Given the description of an element on the screen output the (x, y) to click on. 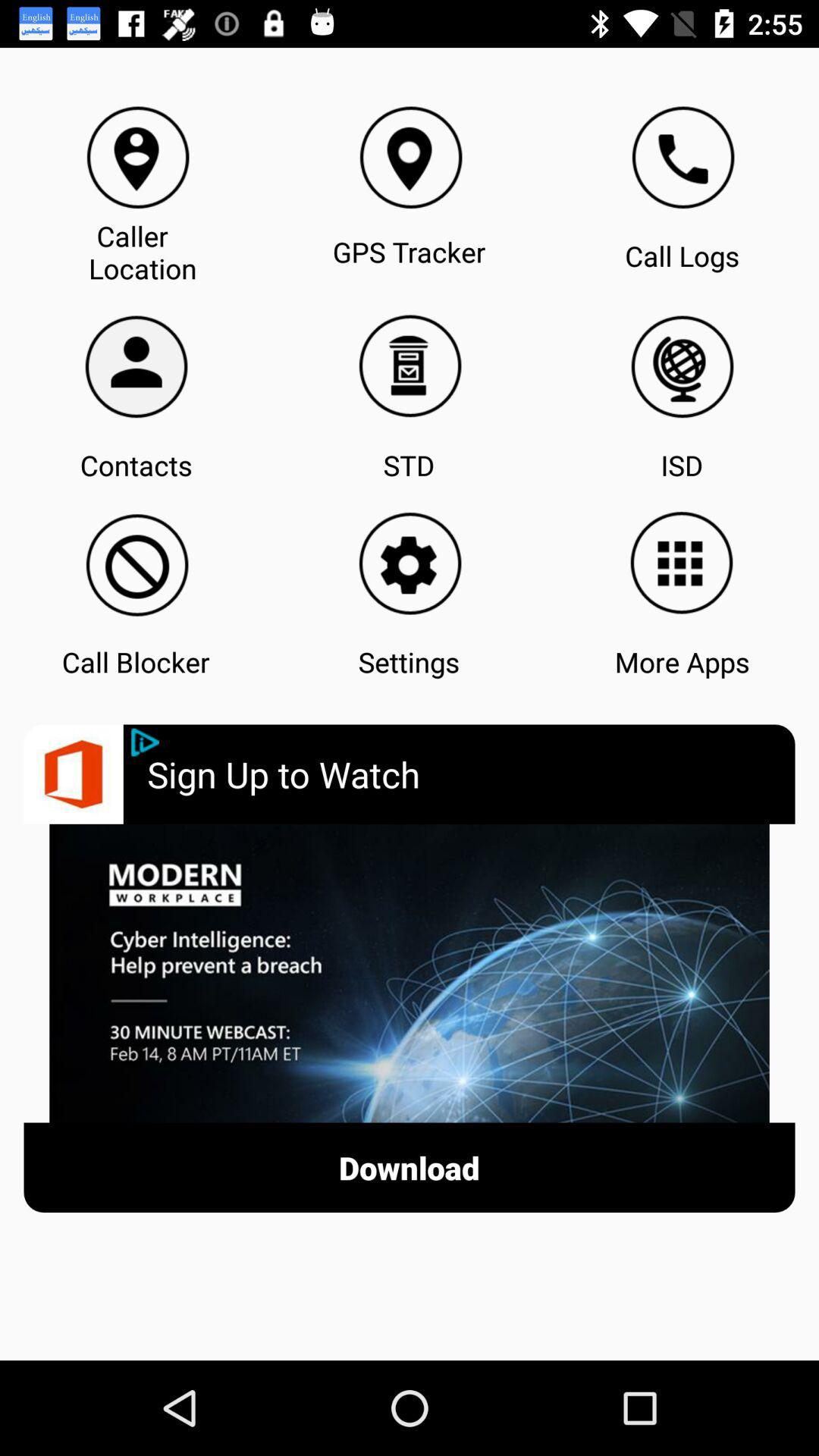
go to advertisement (145, 742)
